Given the description of an element on the screen output the (x, y) to click on. 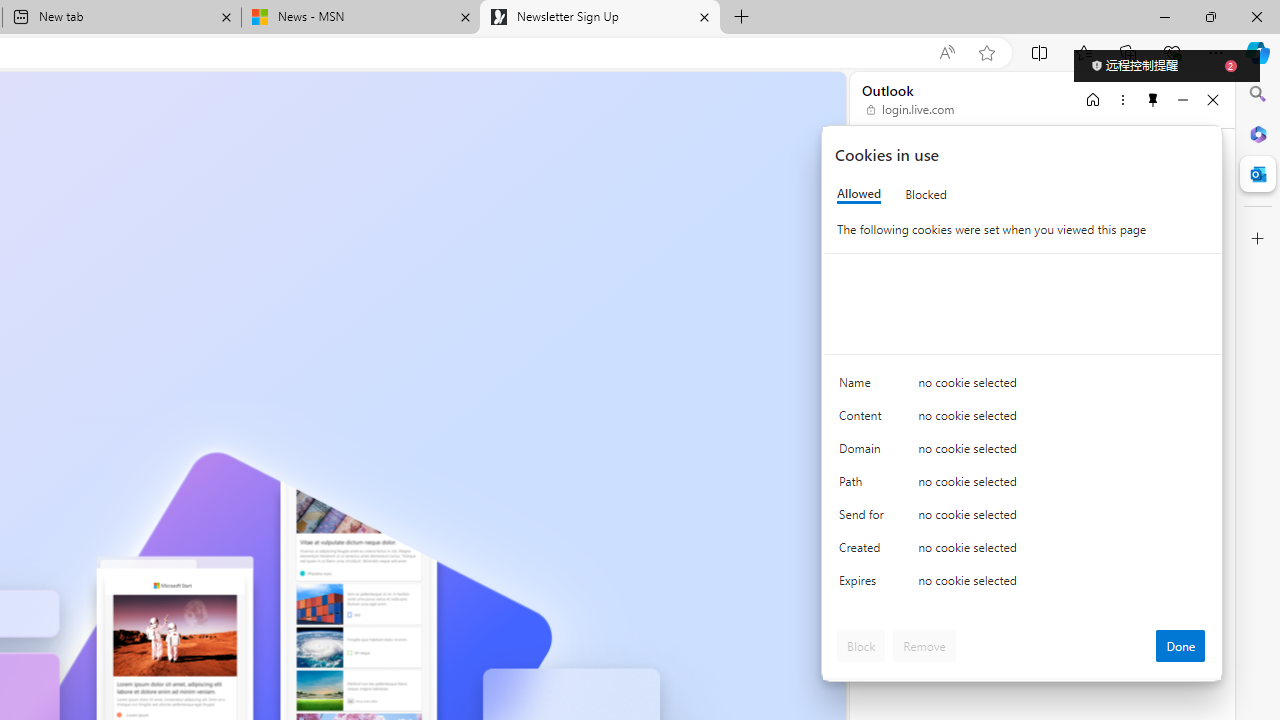
Allowed (859, 193)
Content (864, 420)
Send for (864, 518)
Blocked (925, 193)
Unpin side pane (1153, 99)
Class: c0153 c0157 c0154 (1023, 386)
